Given the description of an element on the screen output the (x, y) to click on. 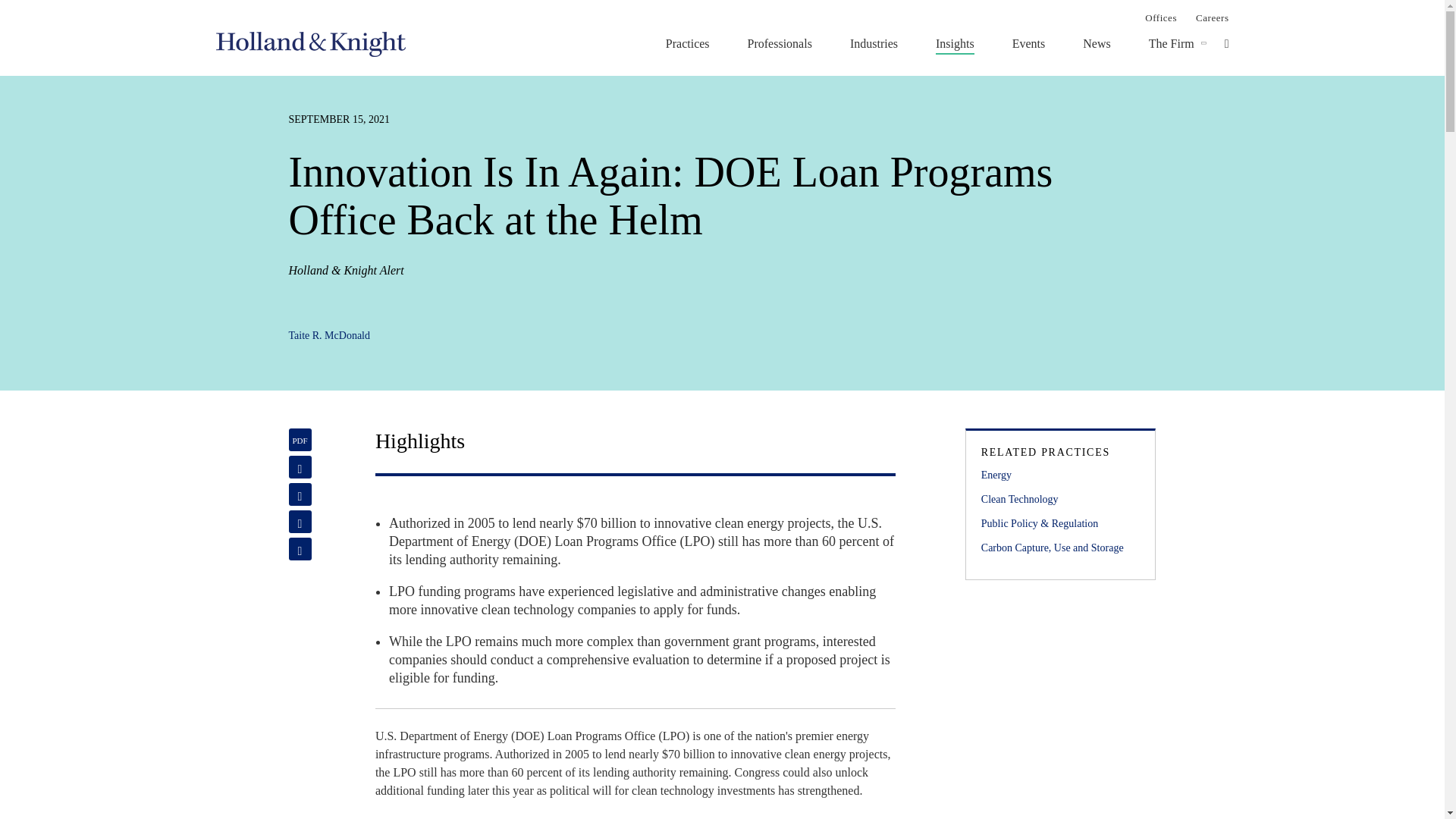
Insights (955, 42)
The Firm (1170, 43)
News (1096, 42)
Industries (874, 42)
Professionals (780, 42)
Taite R. McDonald (328, 335)
Careers (1211, 16)
Practices (687, 42)
Offices (1160, 16)
Events (1028, 42)
